Given the description of an element on the screen output the (x, y) to click on. 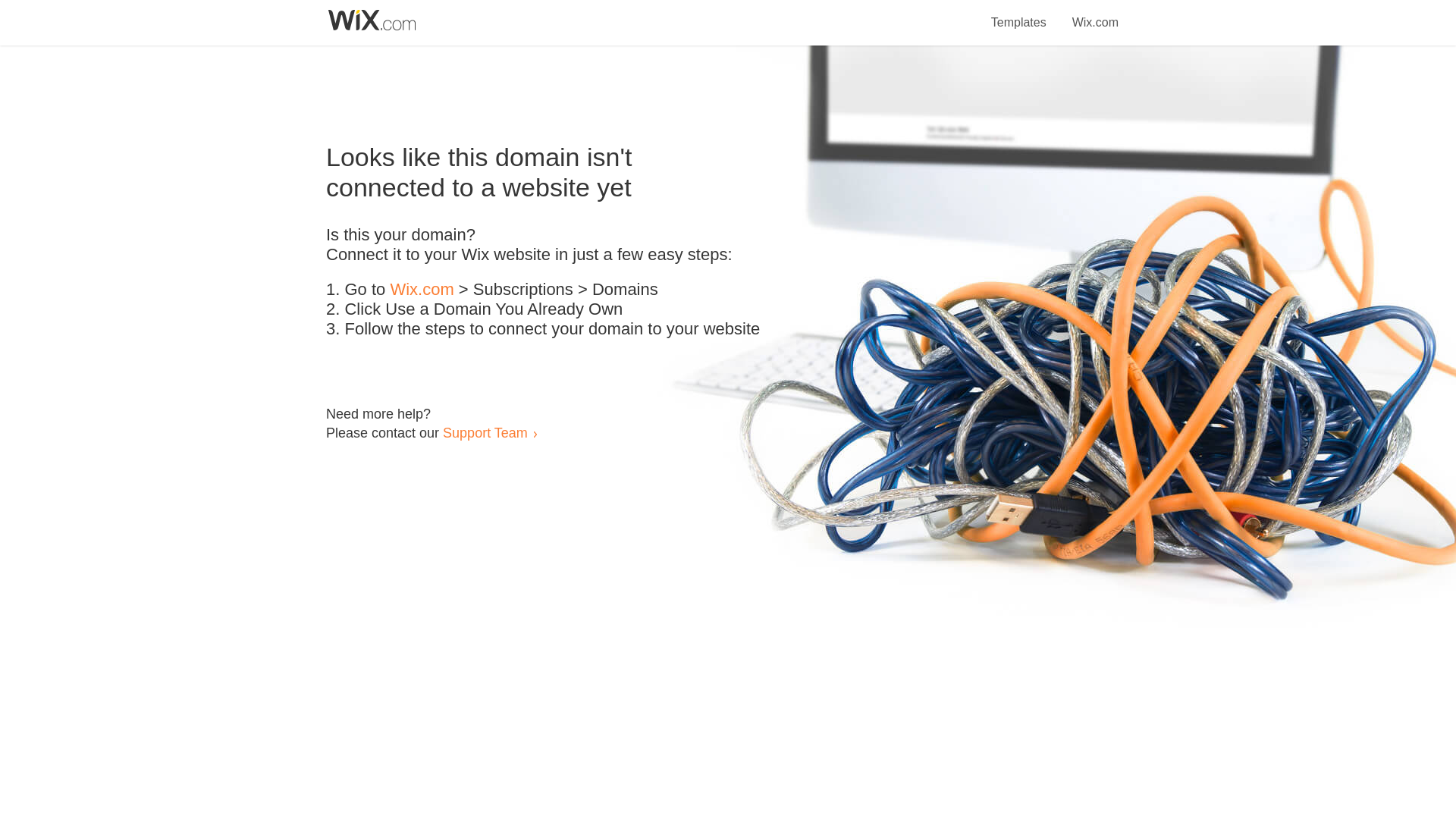
Templates (1018, 14)
Wix.com (1095, 14)
Wix.com (421, 289)
Support Team (484, 432)
